Given the description of an element on the screen output the (x, y) to click on. 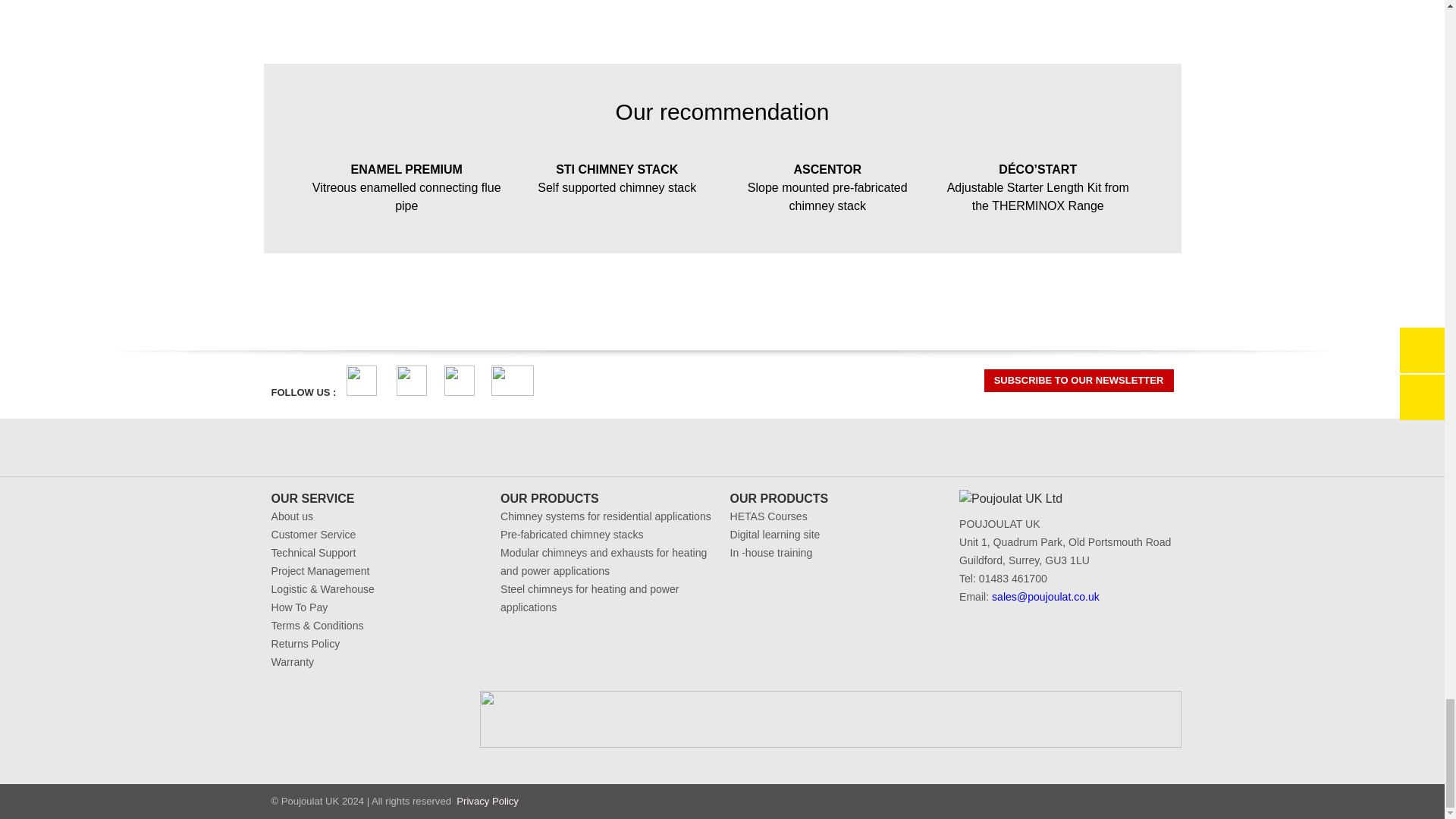
Enamel Premium (406, 184)
SUBSCRIBE TO OUR NEWSLETTER (1078, 380)
STI Chimney stack (617, 175)
Ascentor (827, 184)
